Given the description of an element on the screen output the (x, y) to click on. 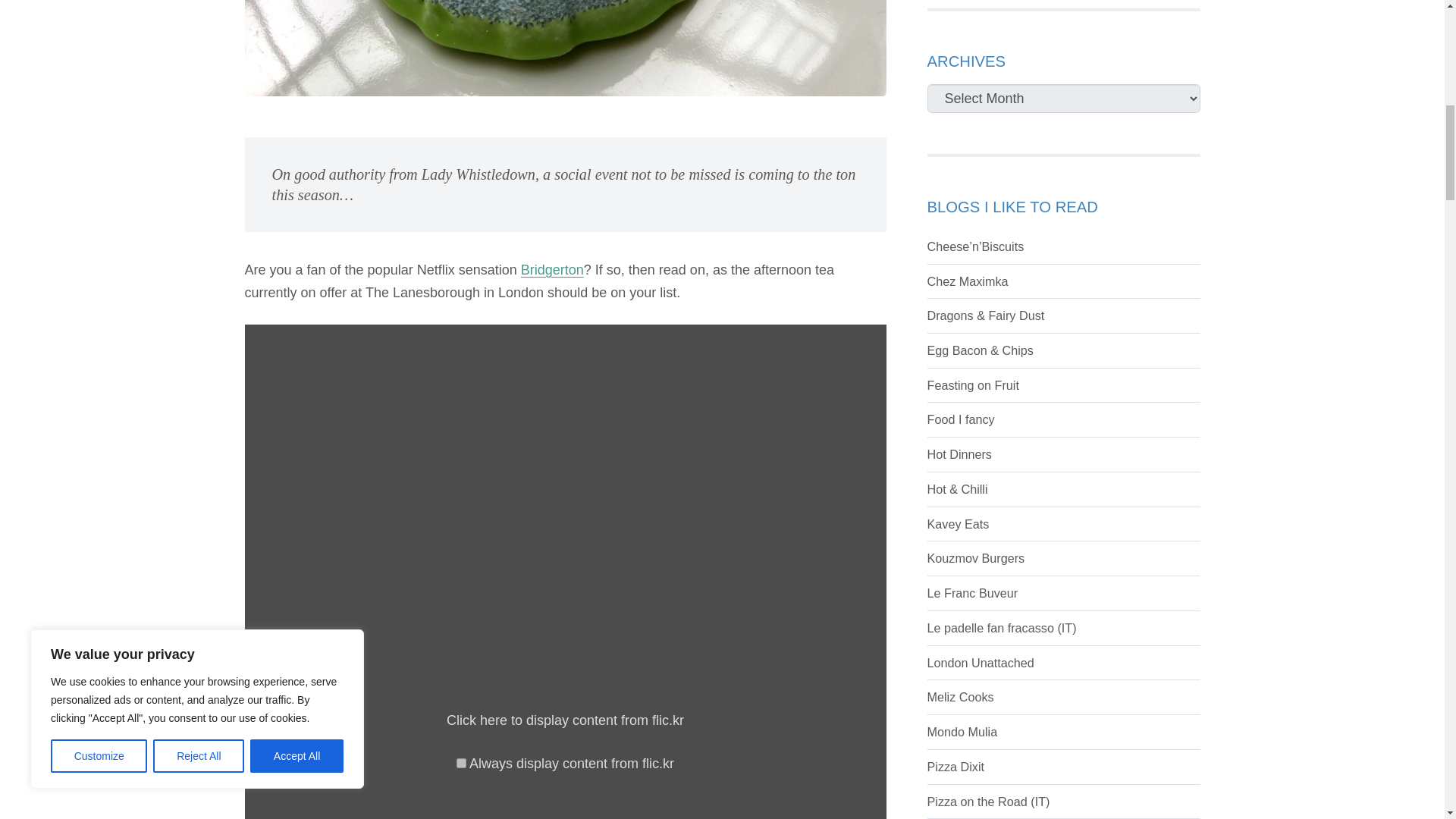
Bridgerton (552, 269)
1 (461, 763)
